Given the description of an element on the screen output the (x, y) to click on. 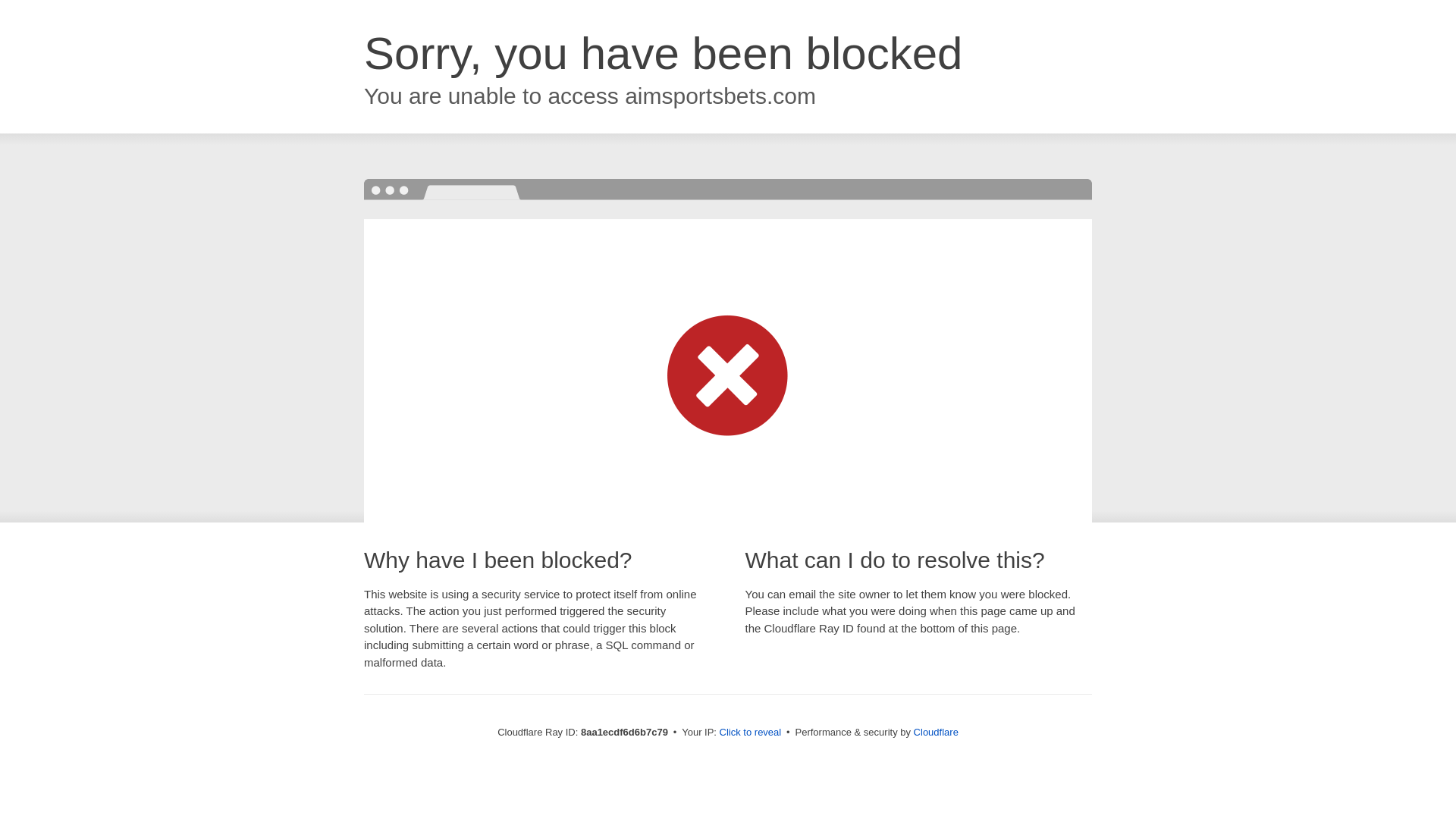
Cloudflare (936, 731)
Click to reveal (750, 732)
